Given the description of an element on the screen output the (x, y) to click on. 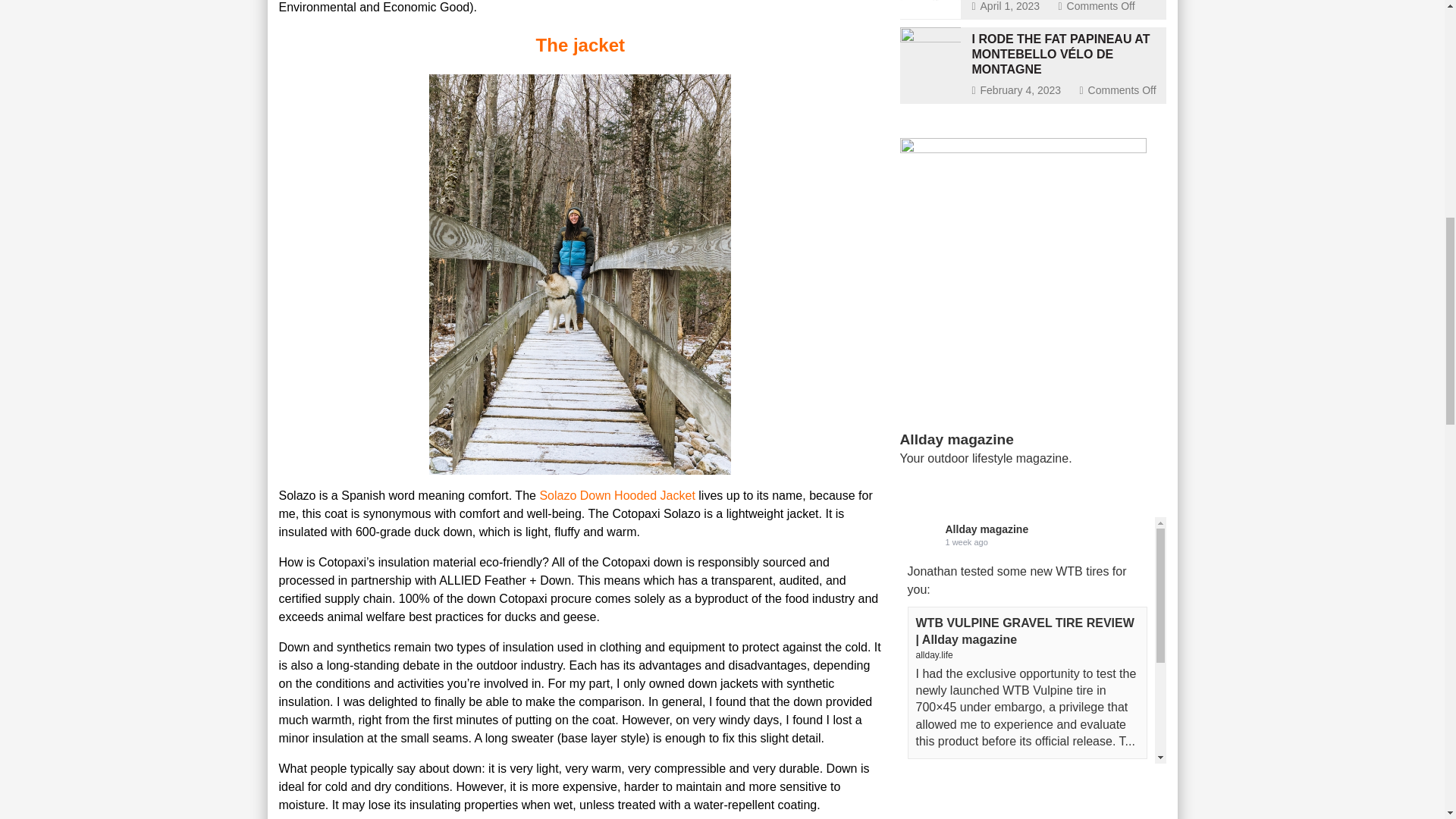
View on Facebook (941, 772)
Share (1000, 772)
Allday magazine (961, 440)
